Given the description of an element on the screen output the (x, y) to click on. 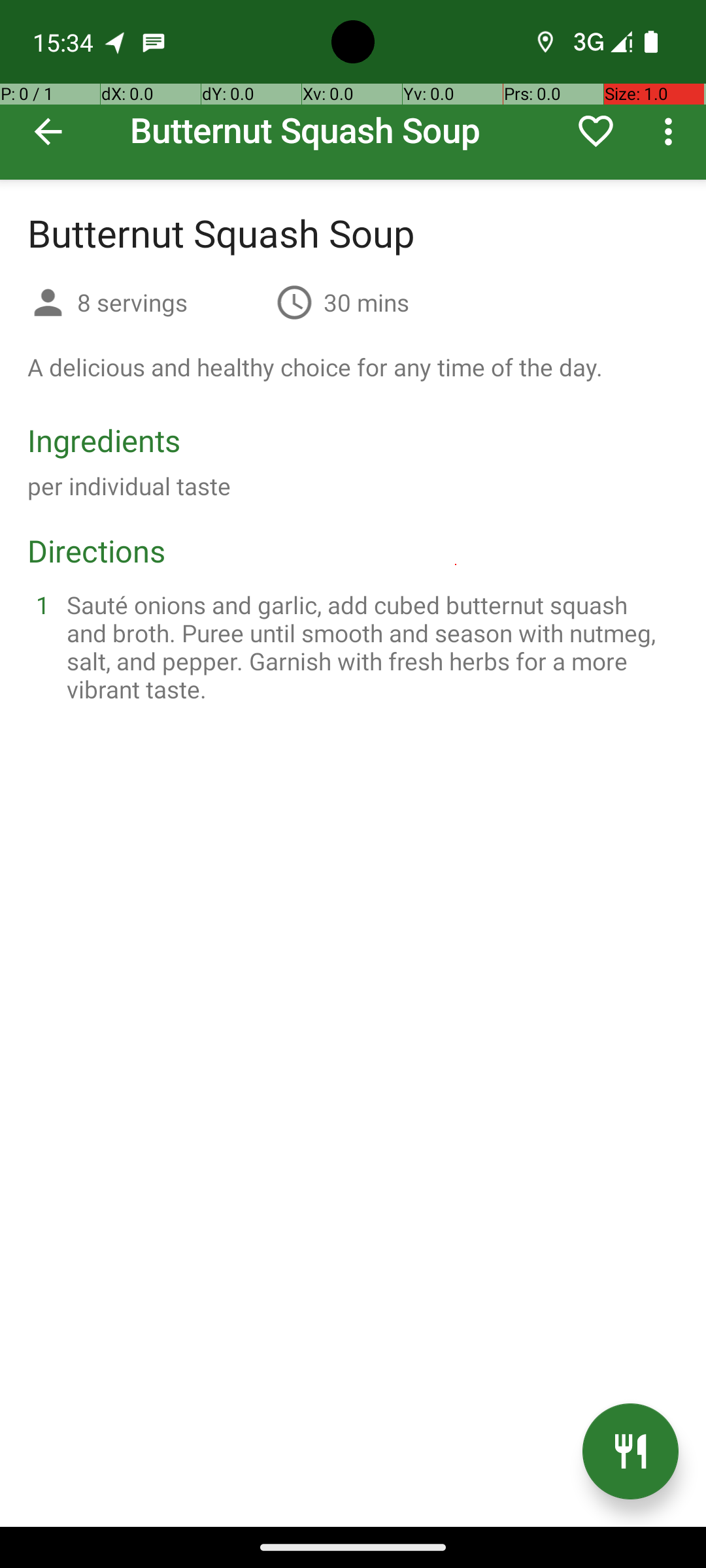
per individual taste Element type: android.widget.TextView (128, 485)
Sauté onions and garlic, add cubed butternut squash and broth. Puree until smooth and season with nutmeg, salt, and pepper. Garnish with fresh herbs for a more vibrant taste. Element type: android.widget.TextView (368, 646)
SMS Messenger notification: Noa Mohamed Element type: android.widget.ImageView (153, 41)
